Given the description of an element on the screen output the (x, y) to click on. 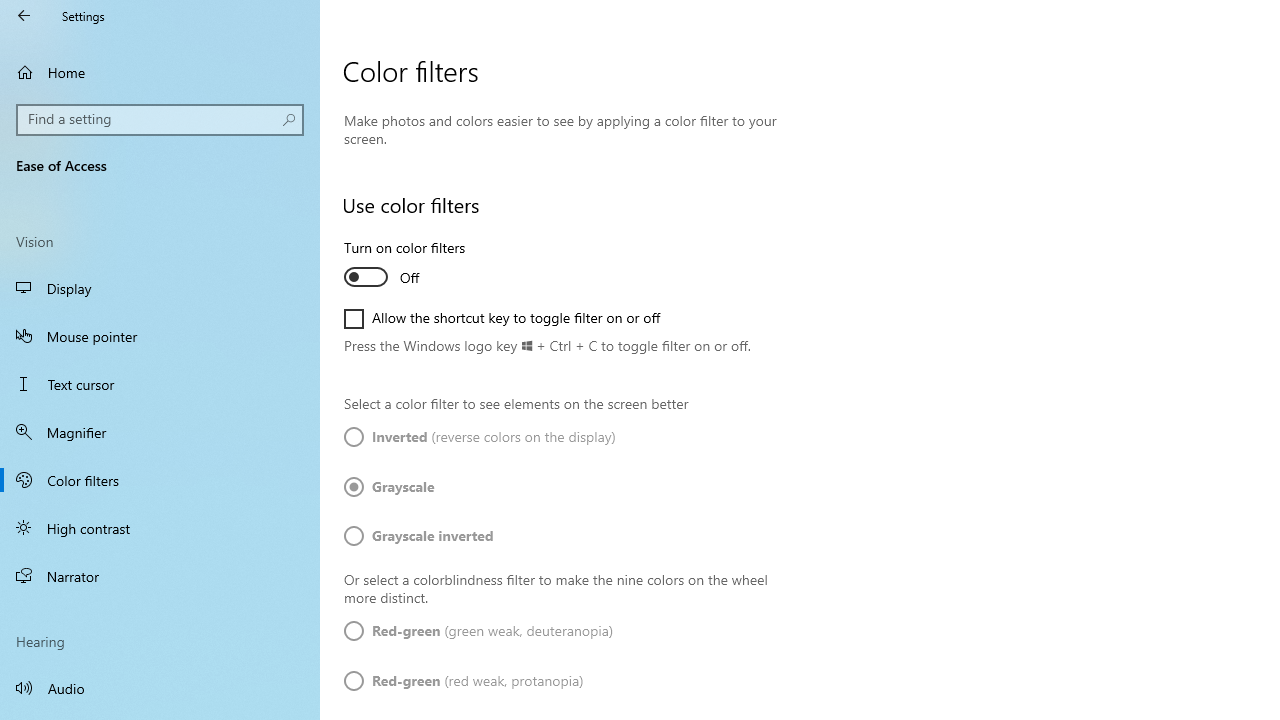
Allow the shortcut key to toggle filter on or off (502, 318)
Grayscale (403, 486)
Color filters (160, 479)
Red-green (red weak, protanopia) (463, 681)
Back (24, 15)
Magnifier (160, 431)
High contrast (160, 527)
Inverted (reverse colors on the display) (479, 437)
Turn on color filters (417, 265)
Grayscale inverted (419, 535)
Display (160, 287)
Narrator (160, 575)
Mouse pointer (160, 335)
Home (160, 71)
Audio (160, 687)
